Given the description of an element on the screen output the (x, y) to click on. 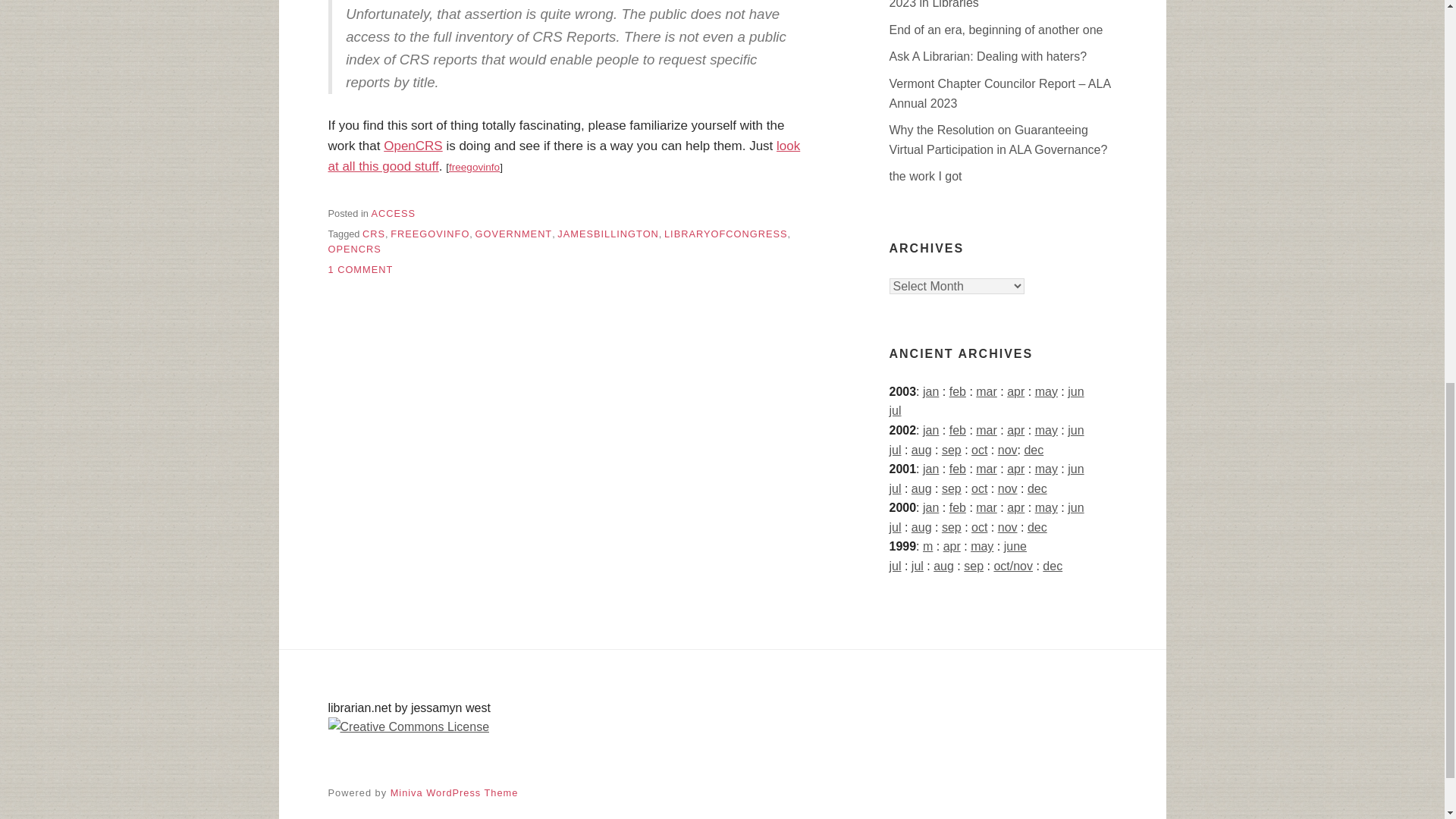
ACCESS (392, 213)
GOVERNMENT (512, 233)
OpenCRS (413, 145)
freegovinfo (473, 166)
FREEGOVINFO (429, 233)
CRS (373, 233)
JAMESBILLINGTON (608, 233)
look at all this good stuff (563, 155)
OPENCRS (353, 248)
LIBRARYOFCONGRESS (725, 233)
